Given the description of an element on the screen output the (x, y) to click on. 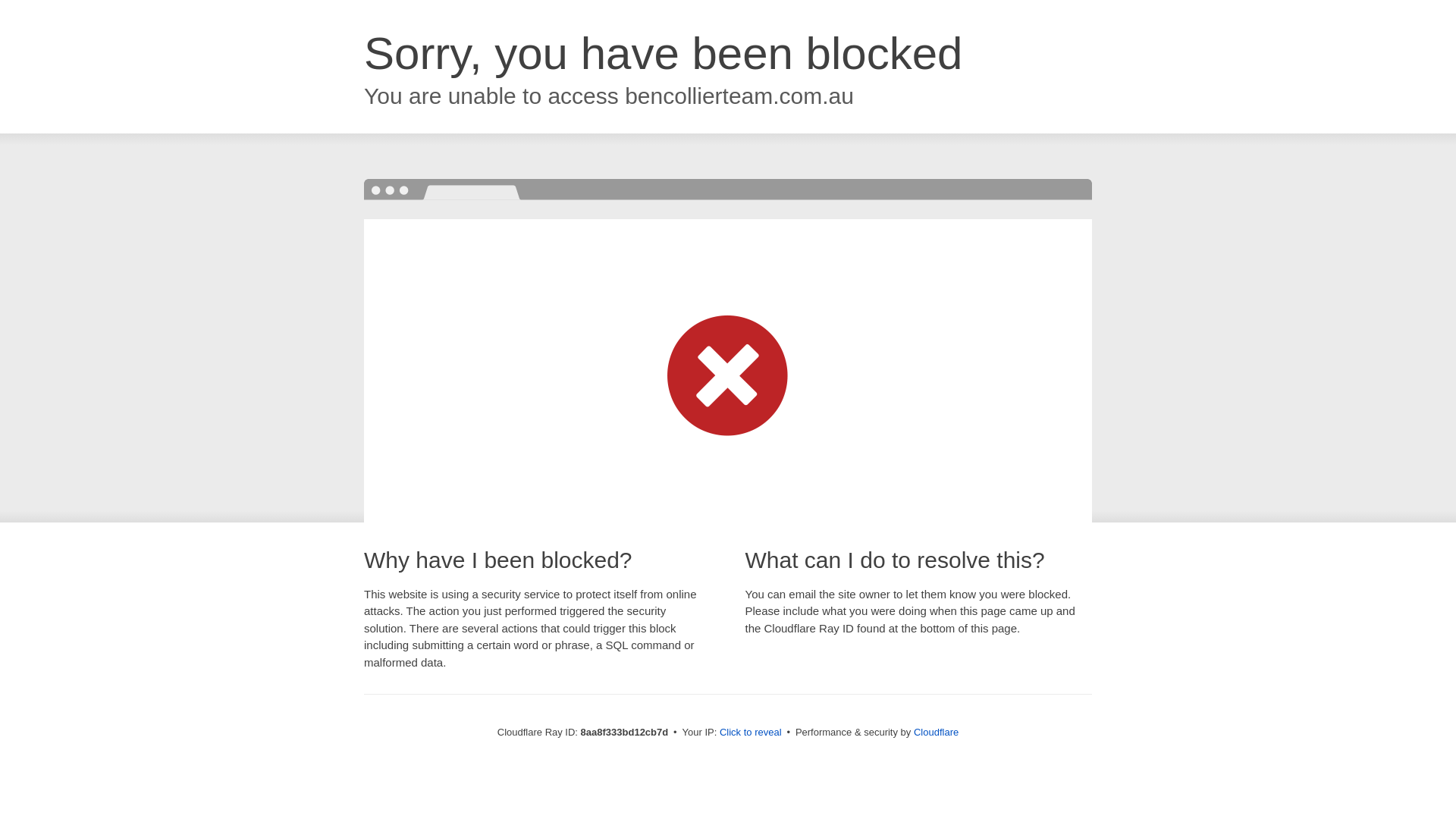
Cloudflare (936, 731)
Click to reveal (750, 732)
